Given the description of an element on the screen output the (x, y) to click on. 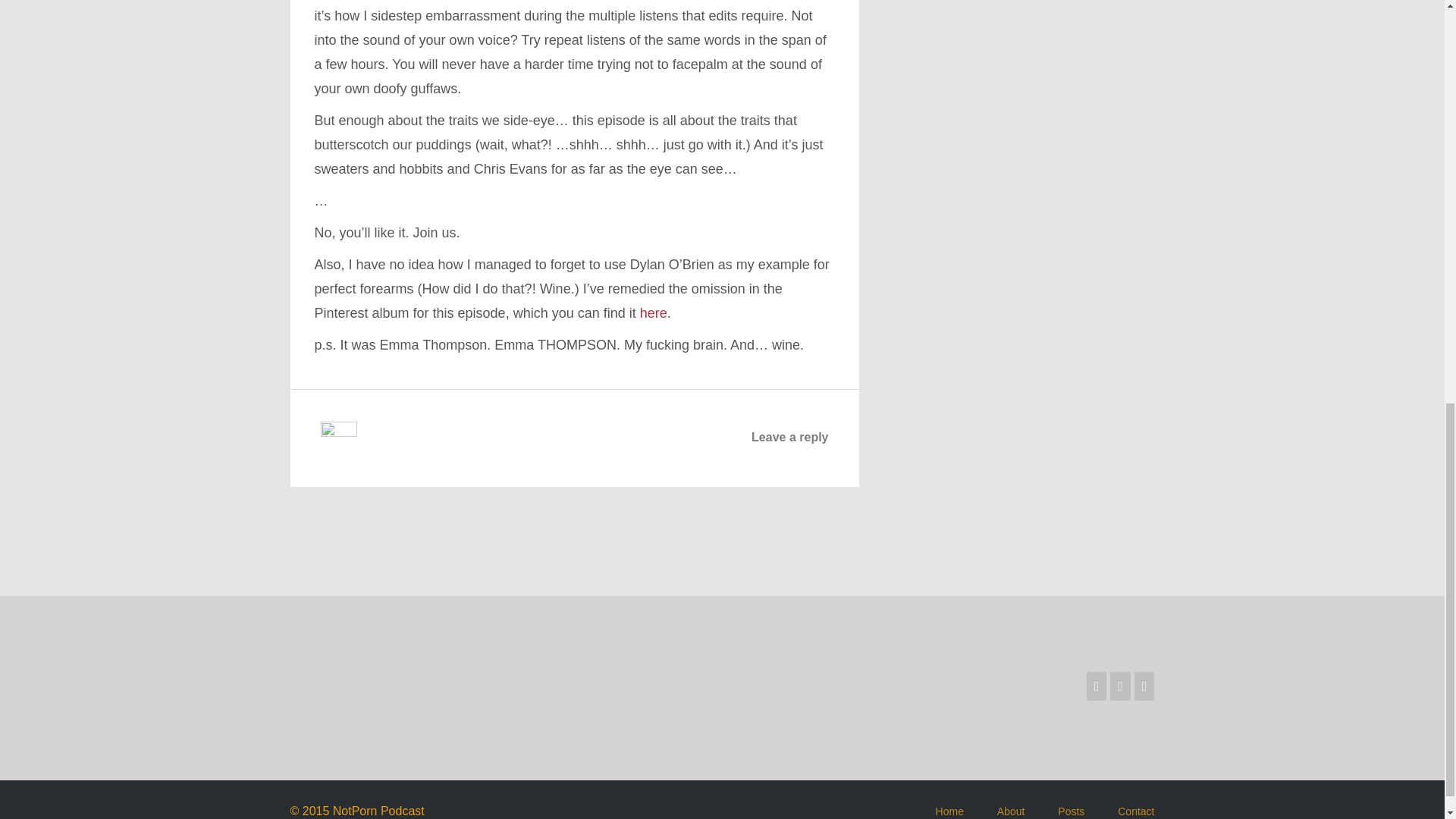
here (653, 313)
Leave a reply (789, 436)
